Given the description of an element on the screen output the (x, y) to click on. 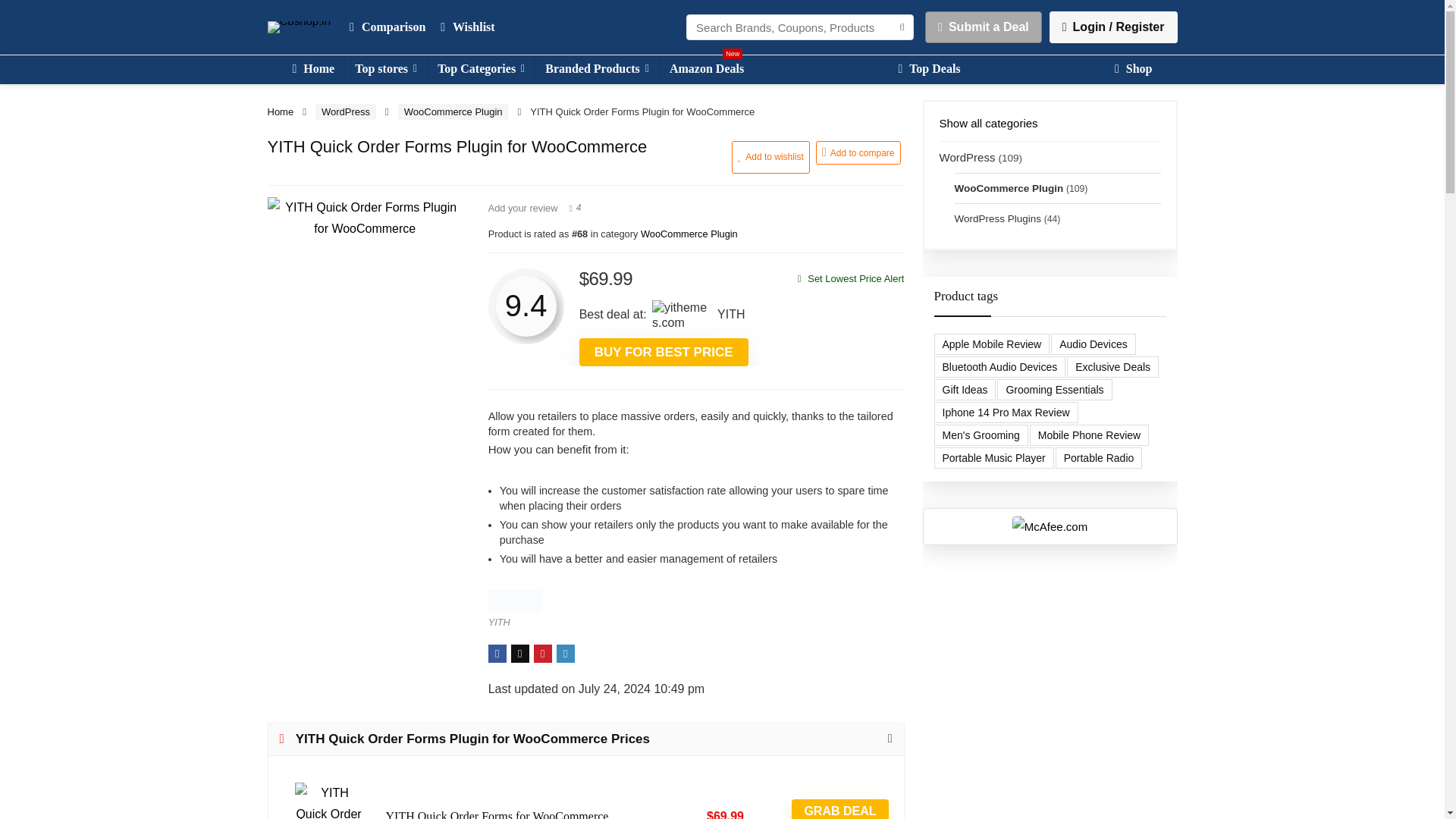
Home (312, 69)
Top stores (385, 69)
Top Categories (481, 69)
Wishlist (468, 26)
Submit a Deal (983, 27)
Add your review (522, 207)
Comparison (387, 26)
